Given the description of an element on the screen output the (x, y) to click on. 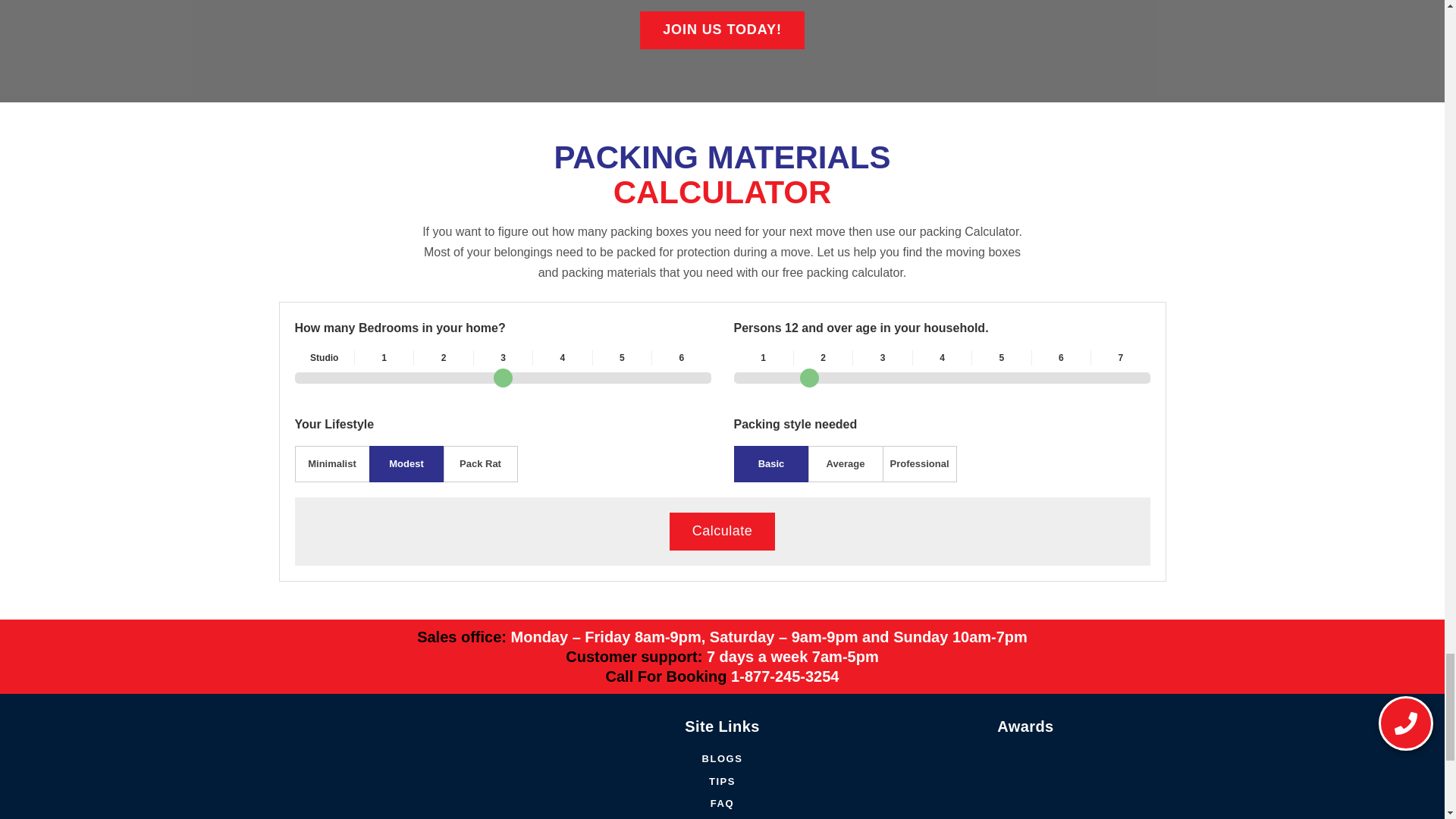
Movers Blog (721, 758)
Frequently Asked Questions (721, 803)
Calculate (722, 531)
2 (941, 378)
3 (502, 378)
Tips Moving Toronto (722, 781)
